Given the description of an element on the screen output the (x, y) to click on. 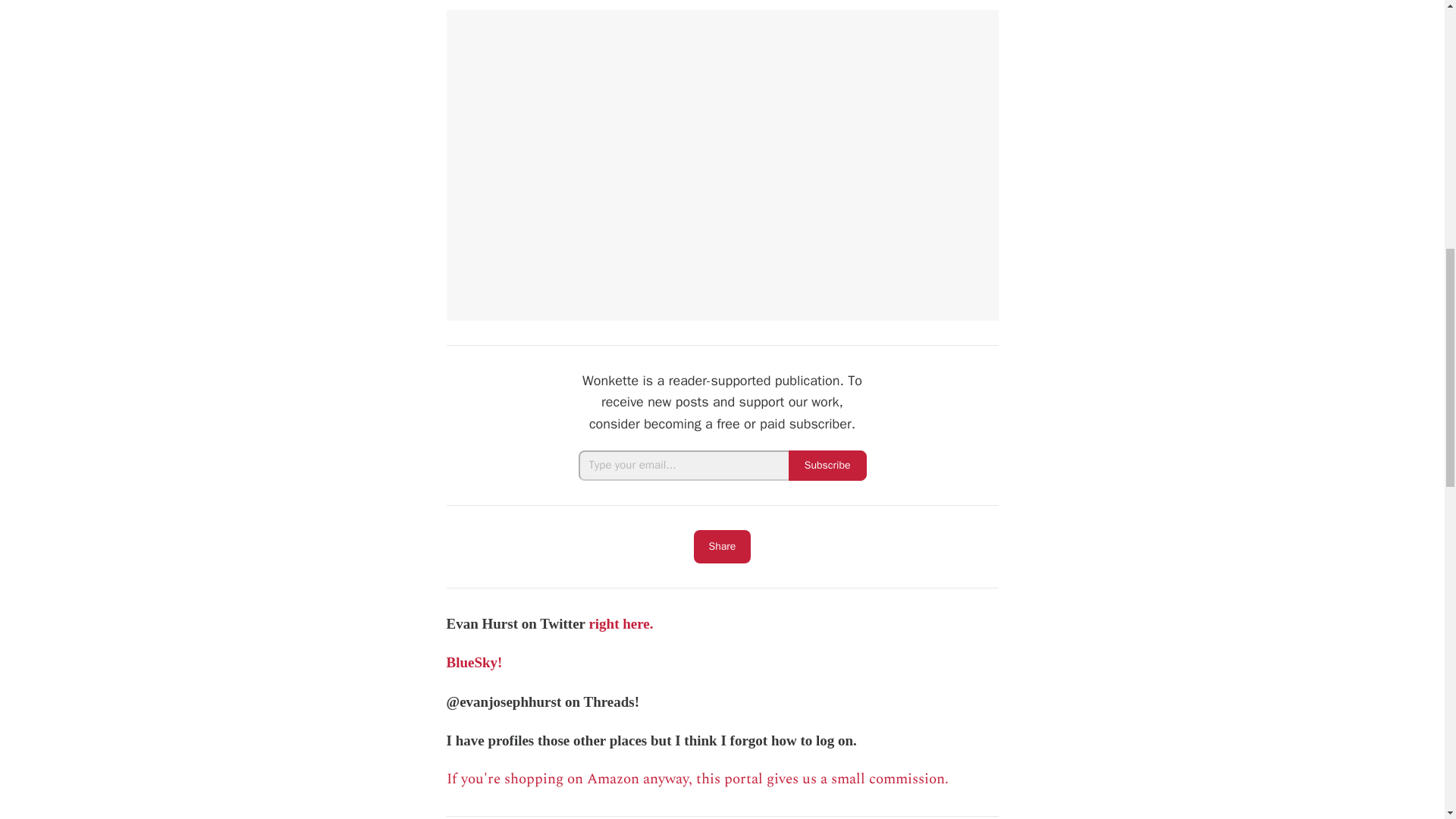
Share (722, 546)
Subscribe (827, 465)
BlueSky! (473, 662)
right here. (620, 623)
